Given the description of an element on the screen output the (x, y) to click on. 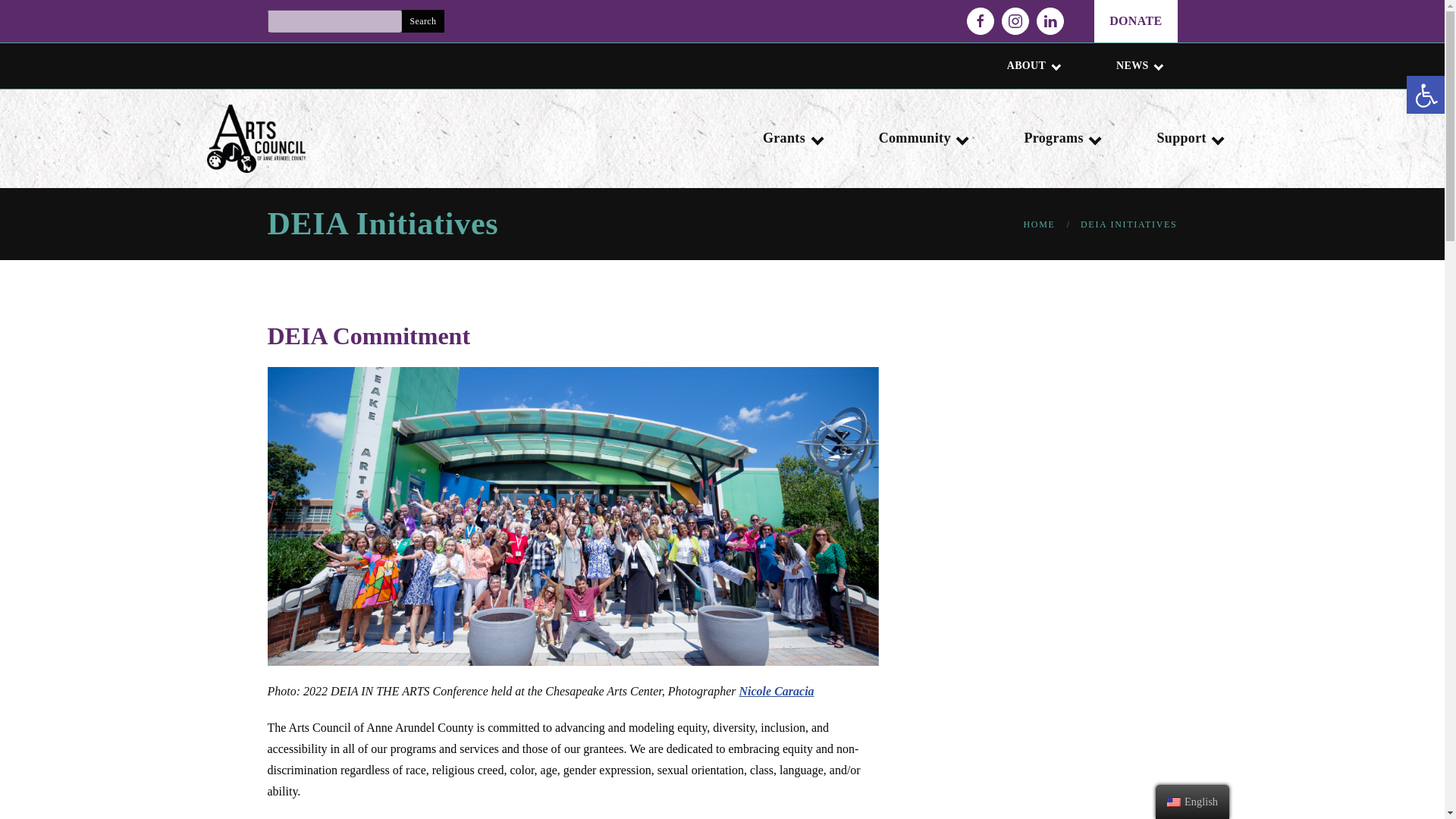
English (1173, 801)
DONATE (1135, 21)
Search (423, 20)
NEWS (1136, 65)
Accessibility Tools (1425, 95)
ABOUT (1031, 65)
Search (423, 20)
